Given the description of an element on the screen output the (x, y) to click on. 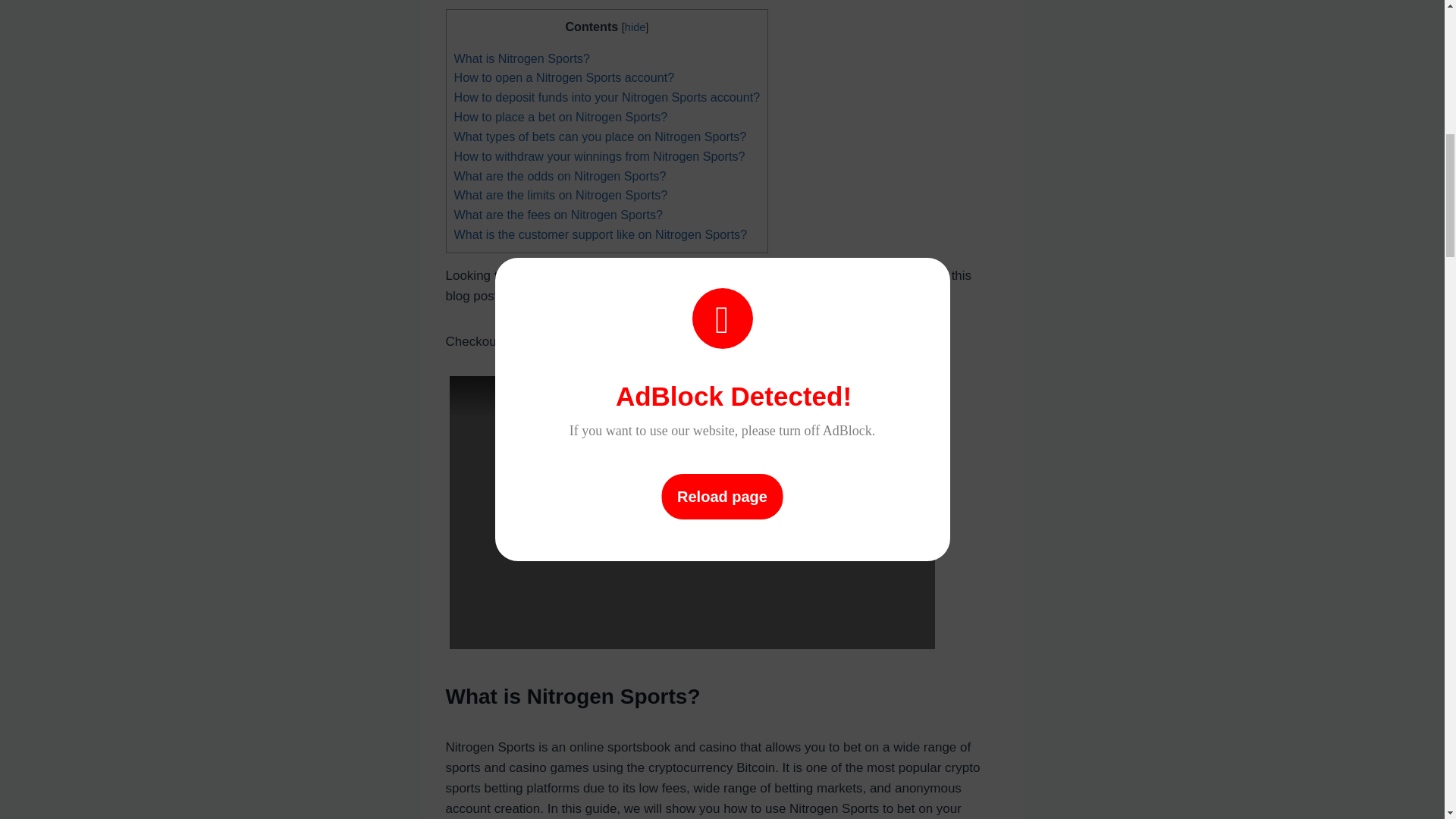
What is Nitrogen Sports? (520, 58)
What types of bets can you place on Nitrogen Sports? (598, 136)
How to place a bet on Nitrogen Sports? (559, 116)
What are the fees on Nitrogen Sports? (557, 214)
What are the odds on Nitrogen Sports? (558, 175)
What are the limits on Nitrogen Sports? (559, 194)
hide (634, 27)
How to withdraw your winnings from Nitrogen Sports? (598, 155)
How to open a Nitrogen Sports account? (563, 77)
How to deposit funds into your Nitrogen Sports account? (606, 97)
